Given the description of an element on the screen output the (x, y) to click on. 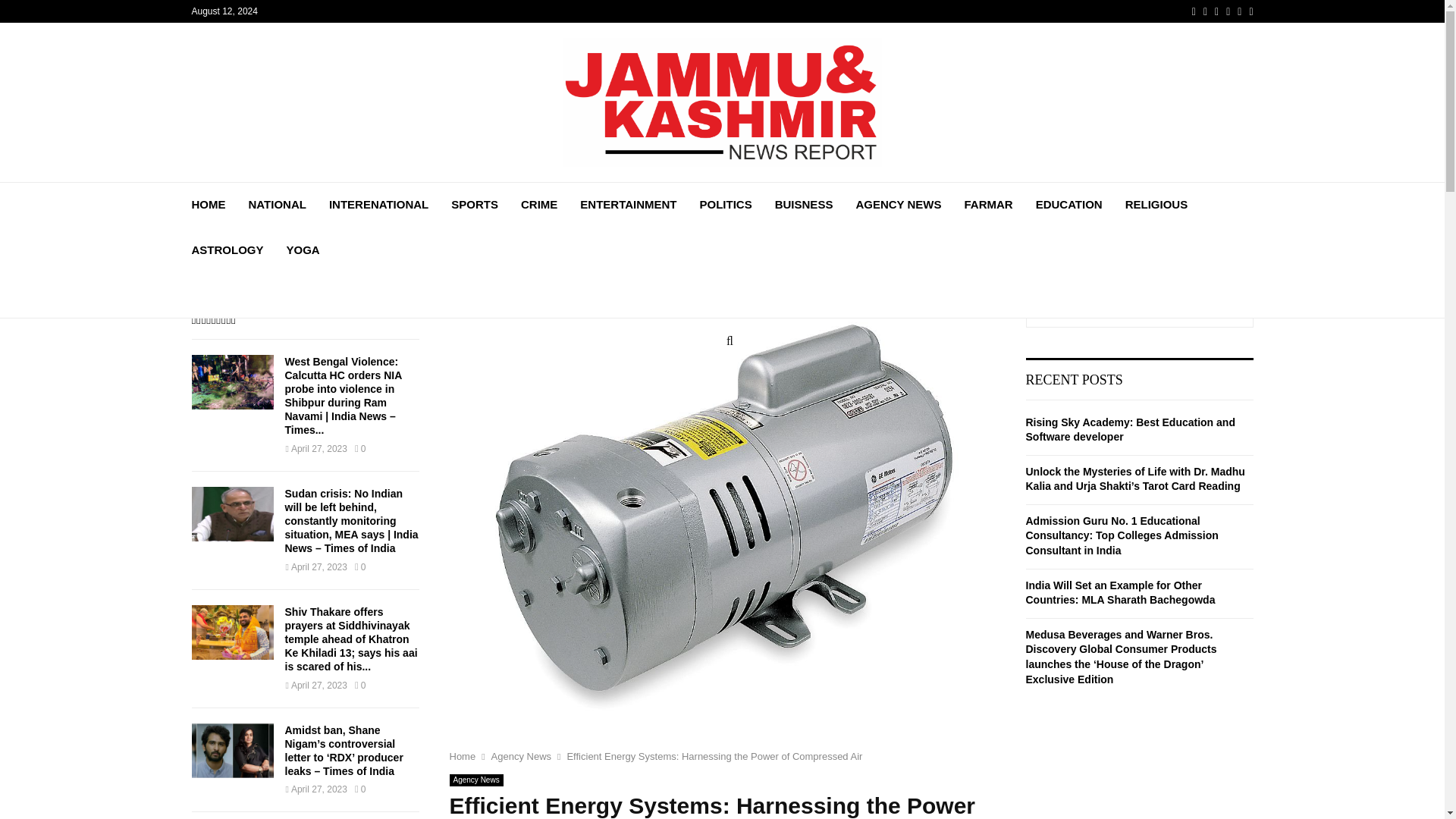
ASTROLOGY (226, 249)
NATIONAL (276, 204)
RELIGIOUS (1156, 204)
FARMAR (987, 204)
Agency News (521, 756)
AGENCY NEWS (898, 204)
EDUCATION (1068, 204)
Home (462, 756)
SPORTS (474, 204)
